Given the description of an element on the screen output the (x, y) to click on. 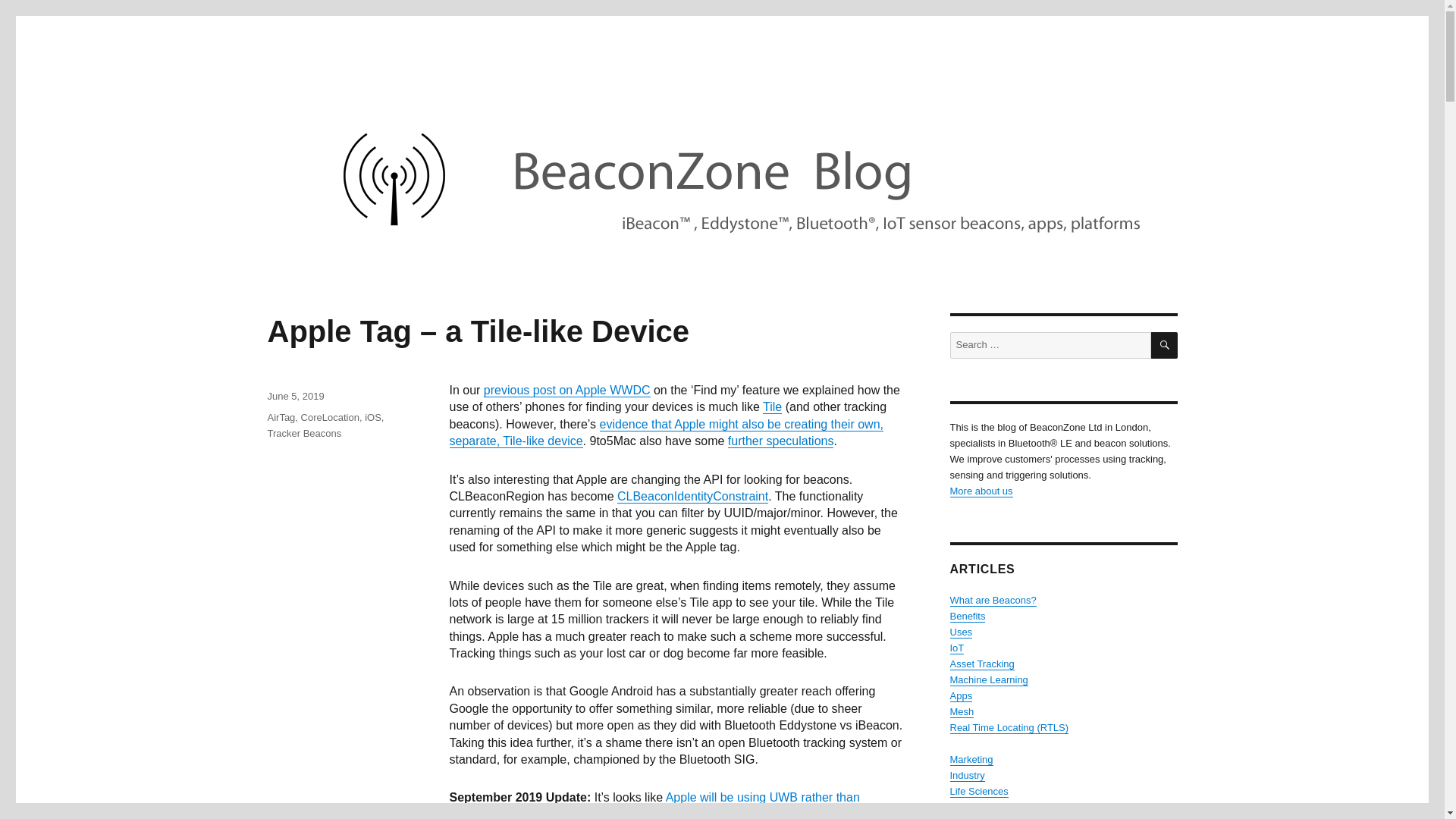
CLBeaconIdentityConstraint (692, 495)
previous post on Apple WWDC (566, 390)
Apple will be using UWB rather than Bluetooth (653, 805)
iOS (373, 417)
Benefits (967, 615)
More about us (980, 490)
SEARCH (1164, 345)
Uses (960, 632)
Tracker Beacons (303, 432)
Tile (771, 406)
What are Beacons? (992, 600)
further speculations (781, 440)
June 5, 2019 (294, 396)
CoreLocation (330, 417)
